Given the description of an element on the screen output the (x, y) to click on. 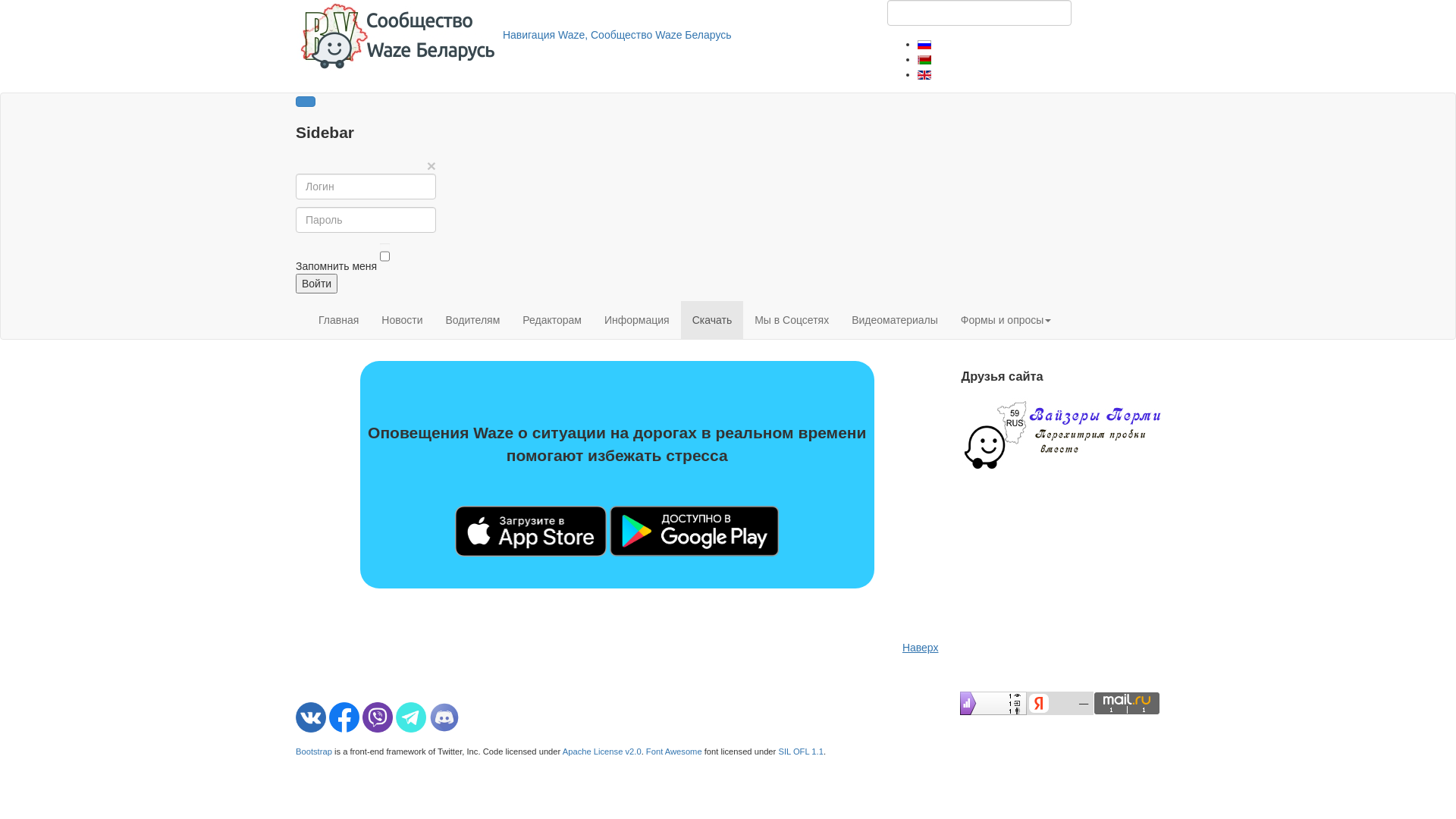
Font Awesome Element type: text (674, 751)
SIL OFL 1.1 Element type: text (800, 751)
Bootstrap Element type: text (313, 751)
Apache License v2.0 Element type: text (601, 751)
English (United Kingdom) Element type: hover (924, 74)
